Given the description of an element on the screen output the (x, y) to click on. 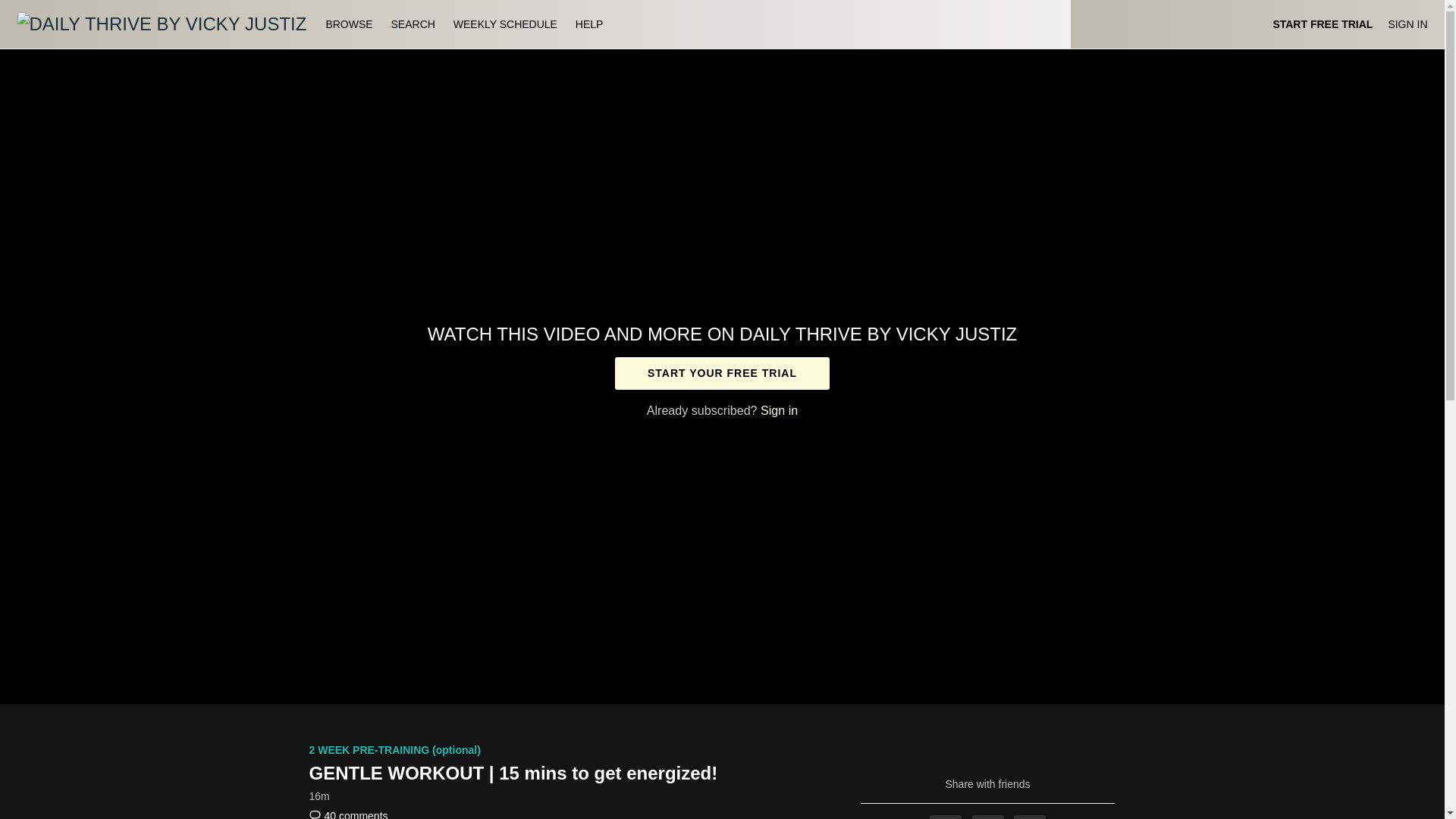
40 comments (348, 814)
SIGN IN (1406, 24)
BROWSE (349, 24)
START FREE TRIAL (1322, 24)
Skip to main content (48, 7)
View Latest Comments (348, 814)
Sign in (778, 409)
HELP (589, 24)
Facebook (945, 816)
Twitter (988, 816)
START YOUR FREE TRIAL (721, 373)
Email (1029, 816)
WEEKLY SCHEDULE (504, 24)
SEARCH (414, 24)
